Given the description of an element on the screen output the (x, y) to click on. 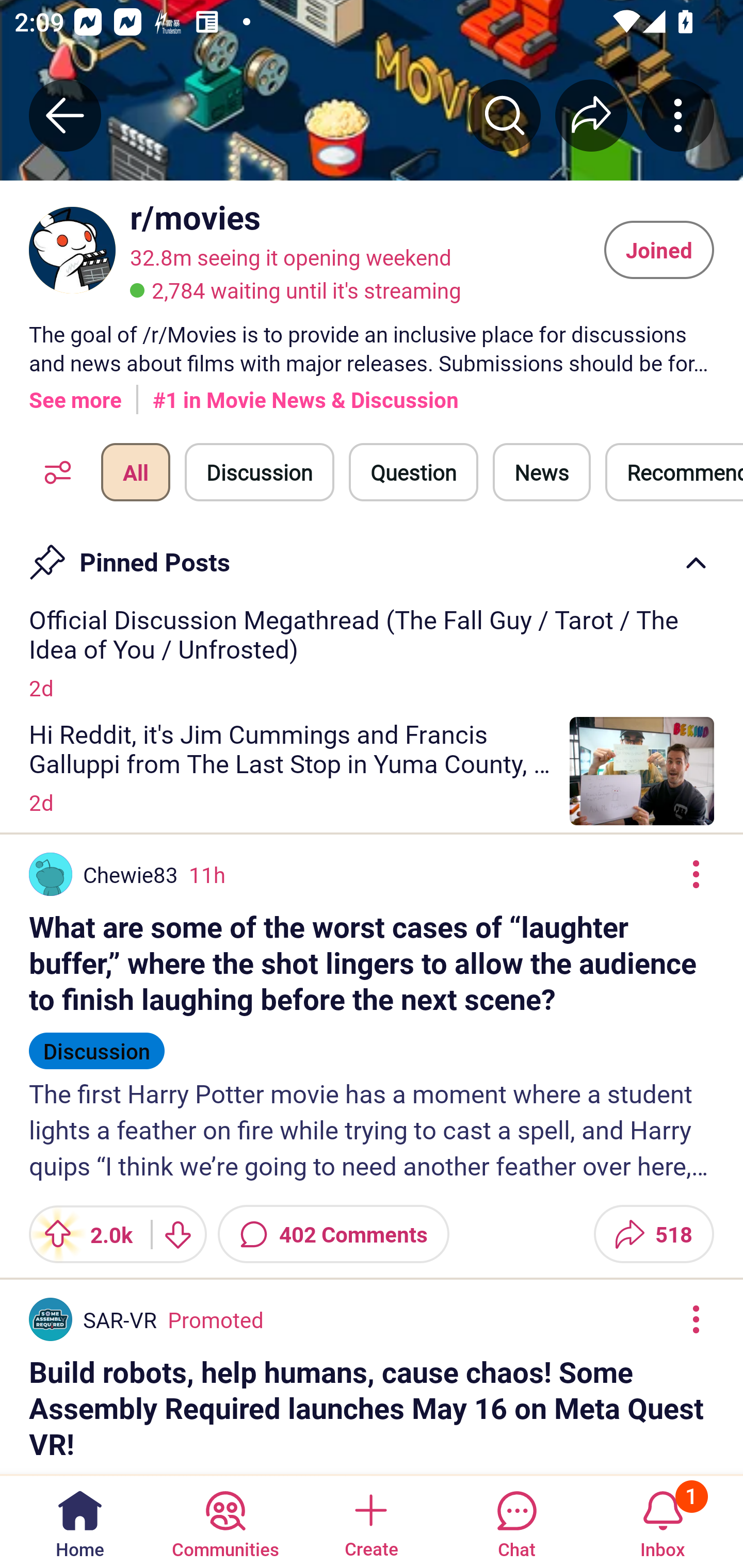
Back (64, 115)
Search r/﻿movies (504, 115)
Share r/﻿movies (591, 115)
More community actions (677, 115)
See more (74, 391)
#1 in Movie News & Discussion (305, 391)
Feed Options (53, 472)
All (135, 472)
Discussion (259, 472)
Question (413, 472)
News (541, 472)
Recommendation (674, 472)
Pin Pinned Posts Caret (371, 555)
Discussion (96, 1042)
Home (80, 1520)
Communities (225, 1520)
Create a post Create (370, 1520)
Chat (516, 1520)
Inbox, has 1 notification 1 Inbox (662, 1520)
